Given the description of an element on the screen output the (x, y) to click on. 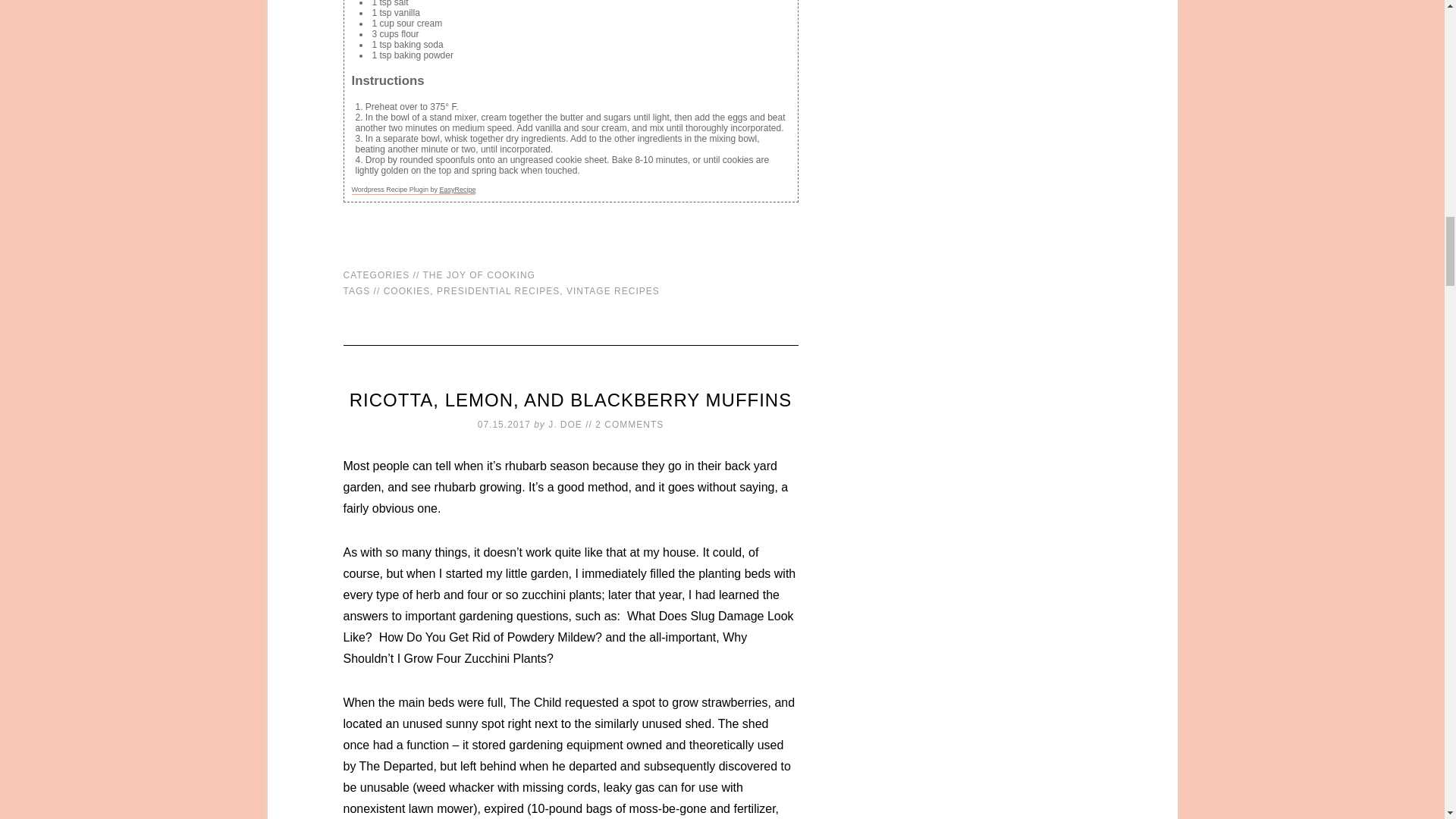
COOKIES (407, 290)
RICOTTA, LEMON, AND BLACKBERRY MUFFINS (570, 399)
J. DOE (565, 424)
PRESIDENTIAL RECIPES (497, 290)
THE JOY OF COOKING (478, 275)
Wordpress Recipe Plugin by EasyRecipe (414, 189)
VINTAGE RECIPES (612, 290)
EasyRecipe Wordpress Recipe Plugin (414, 189)
2 COMMENTS (629, 424)
